Given the description of an element on the screen output the (x, y) to click on. 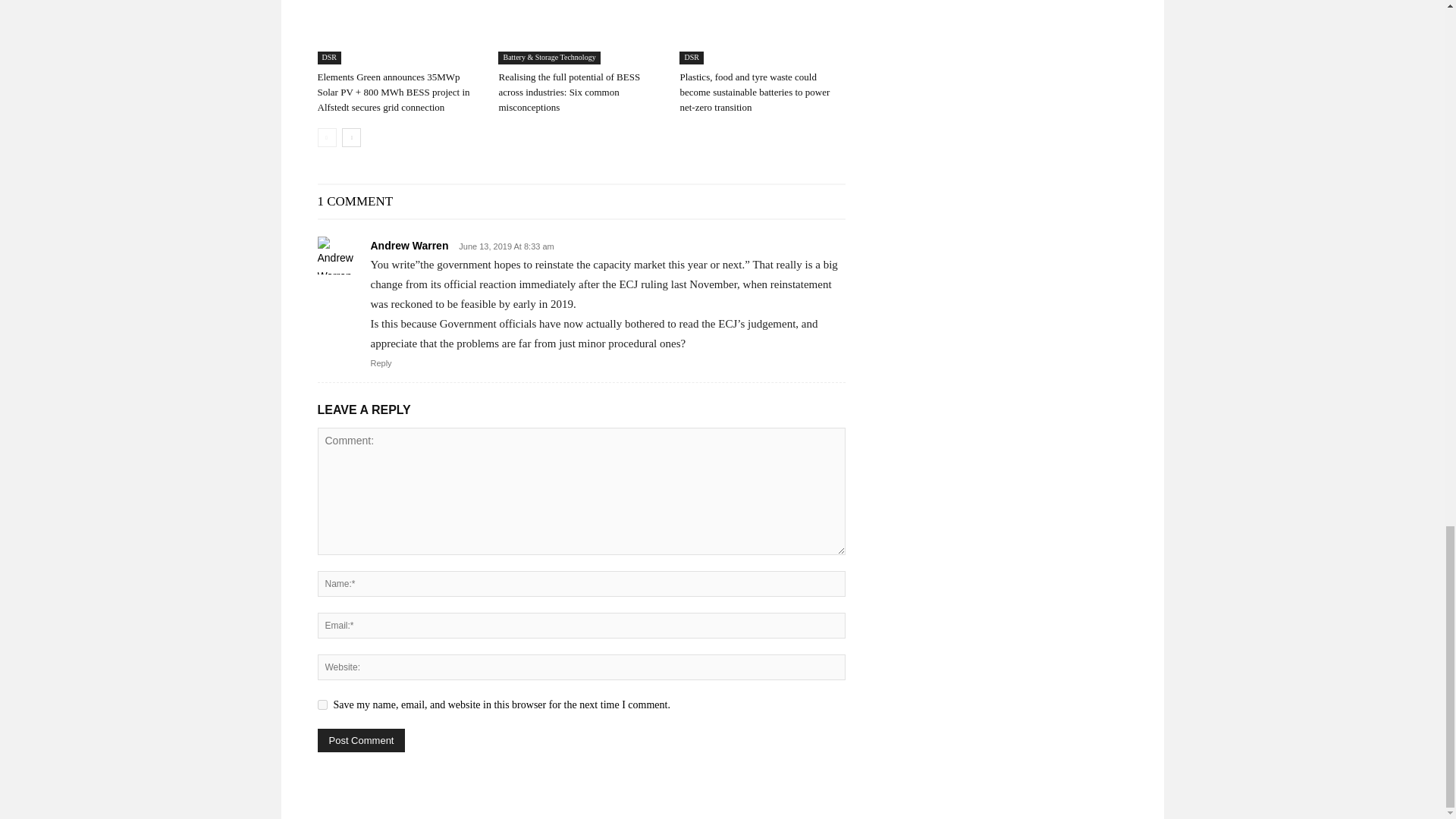
Post Comment (360, 740)
yes (321, 705)
